Given the description of an element on the screen output the (x, y) to click on. 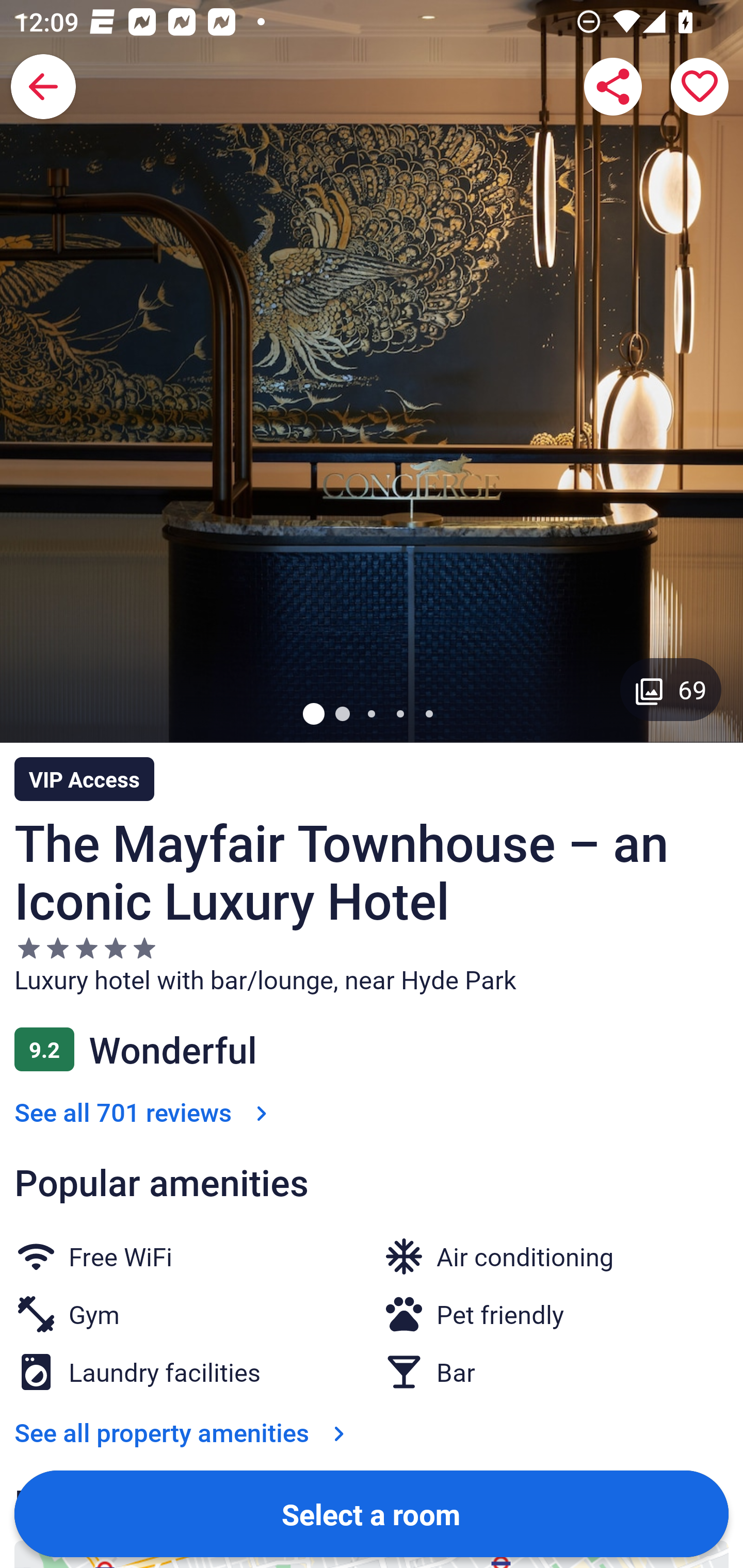
Back (43, 86)
Save property to a trip (699, 86)
Gallery button with 69 images (670, 689)
See all 701 reviews See all 701 reviews Link (144, 1112)
See all property amenities (183, 1432)
Select a room Button Select a room (371, 1513)
